Given the description of an element on the screen output the (x, y) to click on. 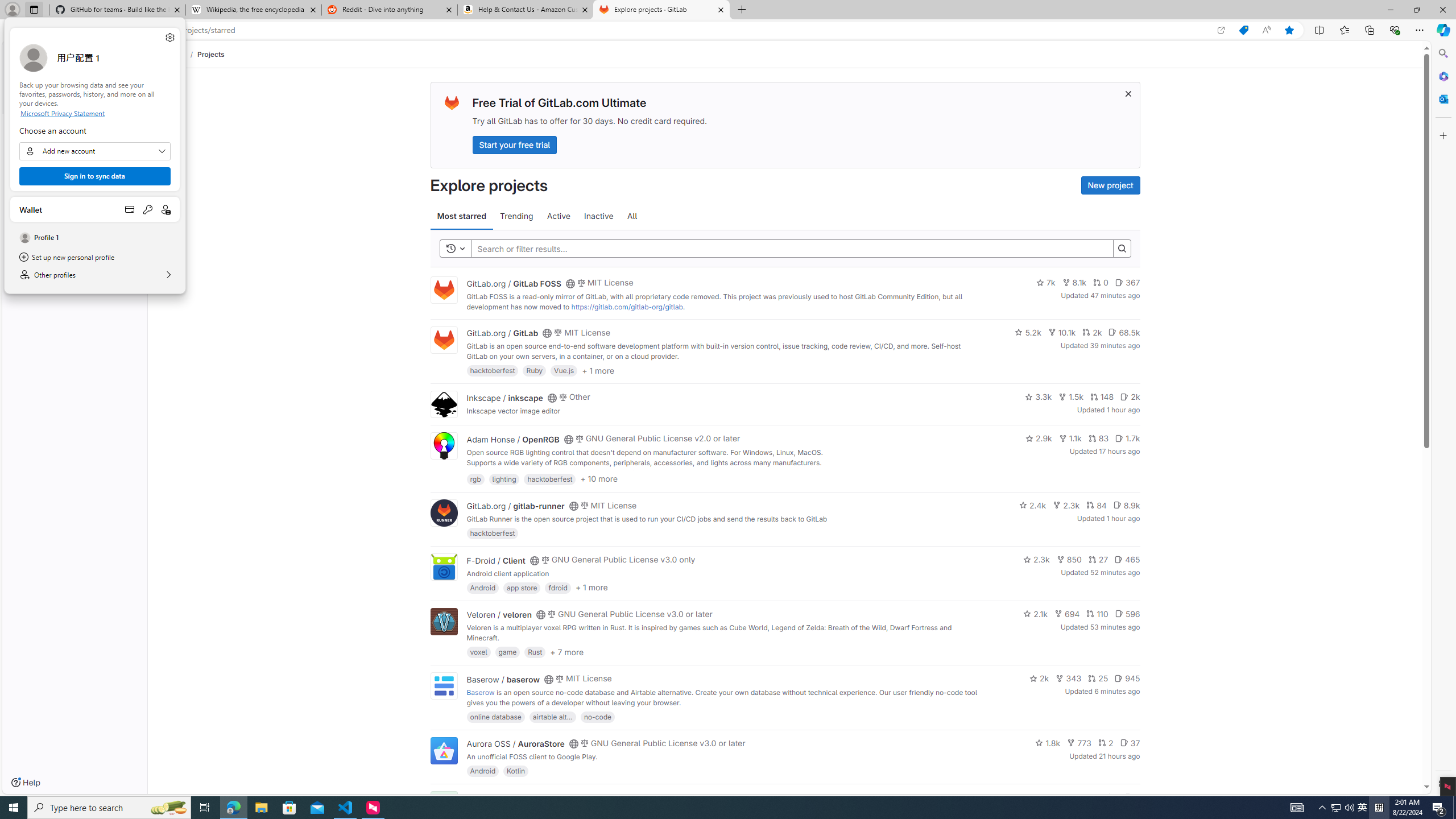
Other profiles (94, 274)
Class: s16 gl-icon gl-button-icon  (1127, 93)
fdroid (558, 587)
+ 1 more (591, 587)
Class: s16 (568, 798)
Open in app (1220, 29)
Set up new personal profile (94, 257)
148 (1101, 396)
8.9k (1126, 504)
Most starred (461, 216)
Class: s14 gl-mr-2 (1128, 796)
